Given the description of an element on the screen output the (x, y) to click on. 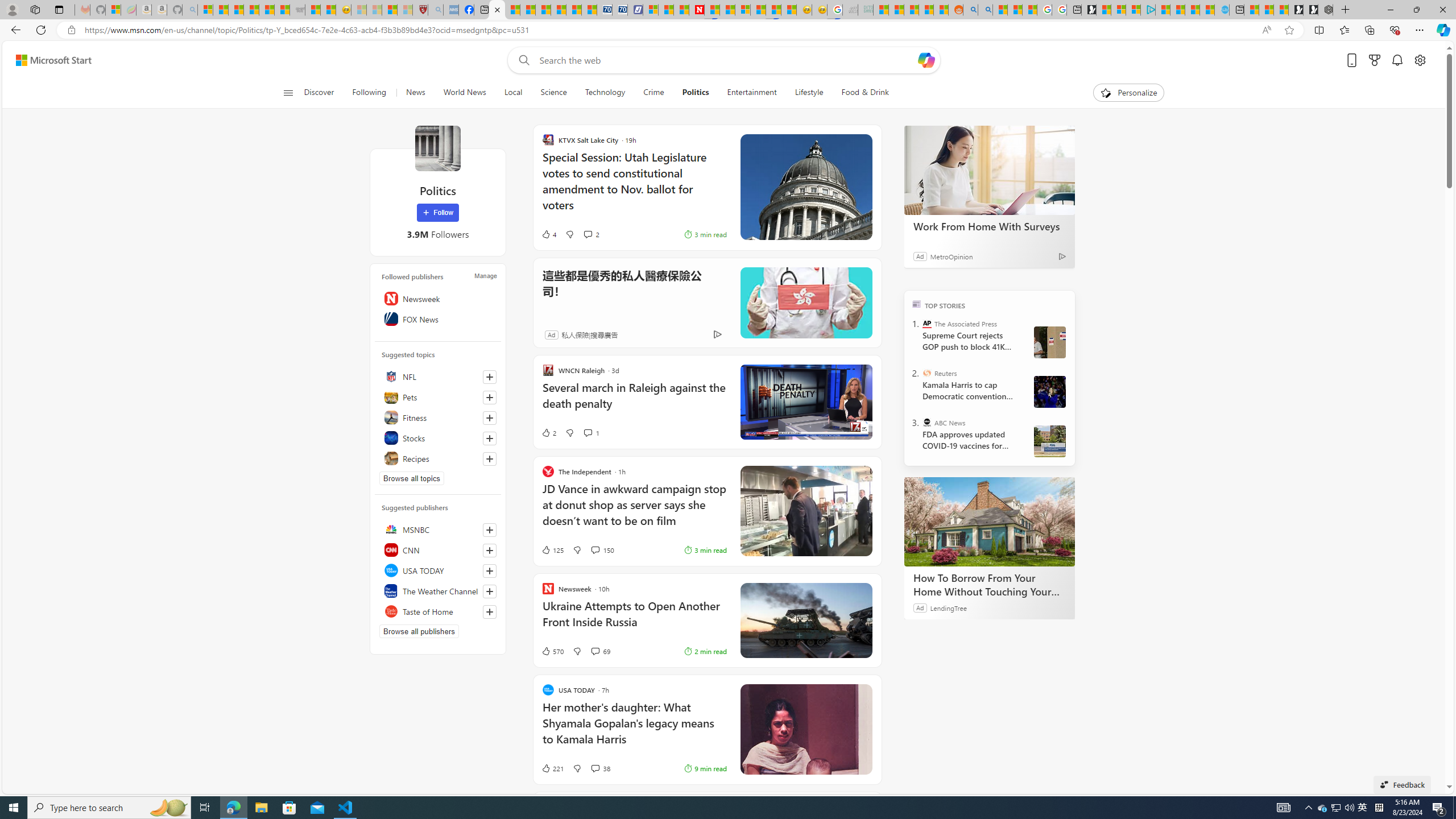
LendingTree (948, 607)
View comments 150 Comment (601, 549)
Pets (437, 397)
Work From Home With Surveys (988, 226)
Work From Home With Surveys (989, 169)
